Given the description of an element on the screen output the (x, y) to click on. 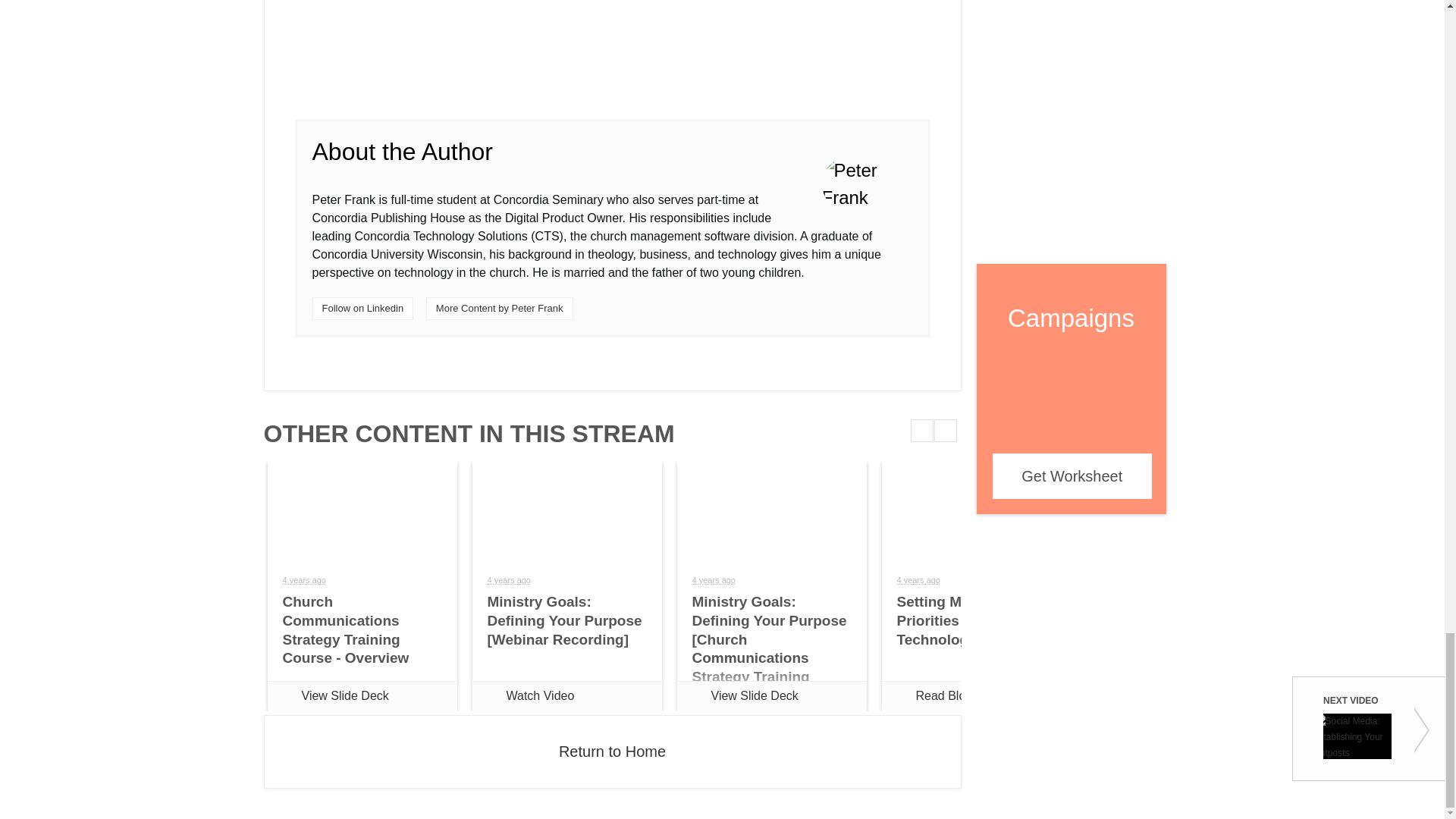
2020-04-29T10:20:07 (303, 579)
2020-04-29T10:21:21 (713, 579)
2020-04-28T19:00:00 (917, 579)
2020-04-28T04:00:00 (507, 579)
